Given the description of an element on the screen output the (x, y) to click on. 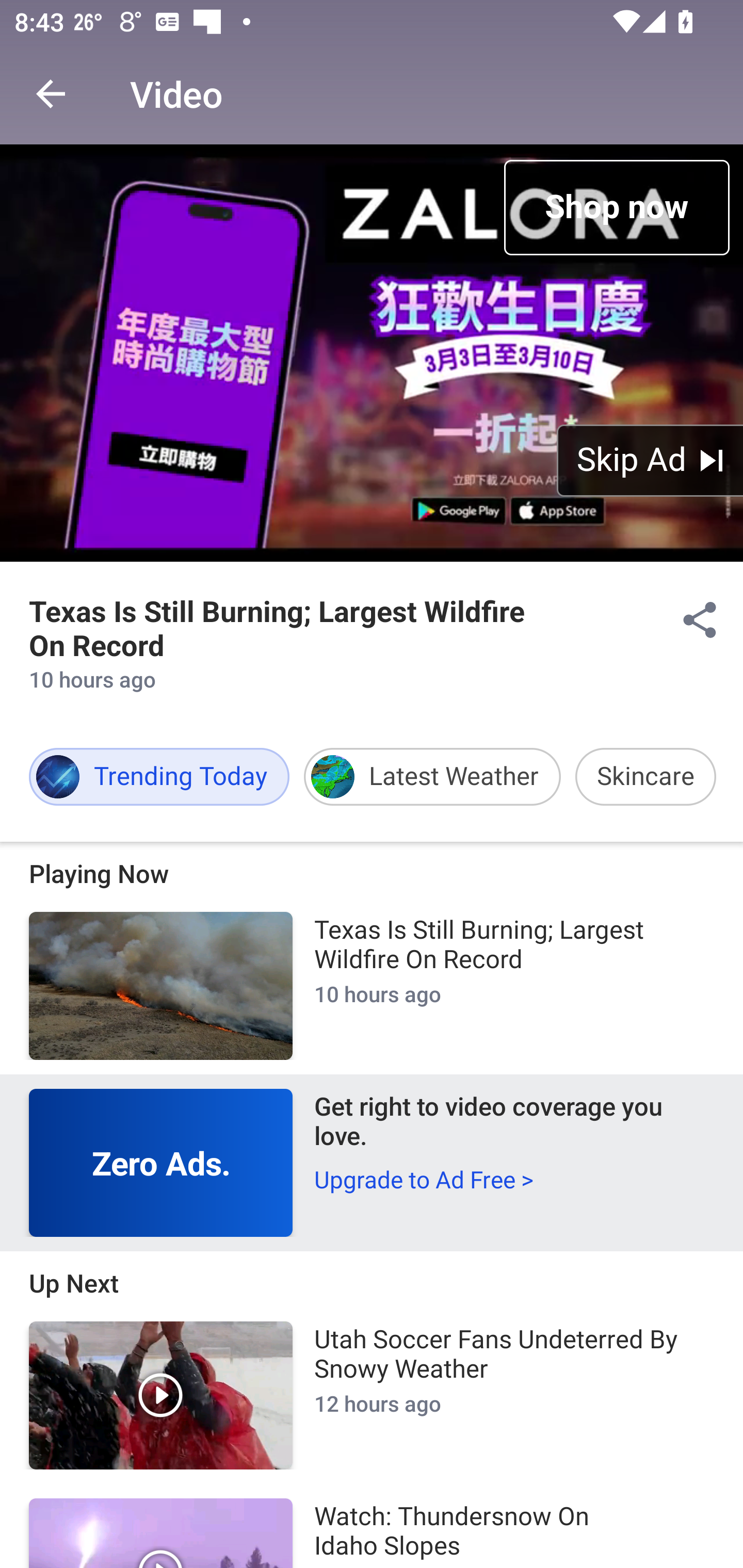
Navigate up (50, 93)
Shop now (616, 206)
Trending Today (158, 776)
Latest Weather (431, 776)
Skincare (645, 776)
Play (160, 1395)
